Given the description of an element on the screen output the (x, y) to click on. 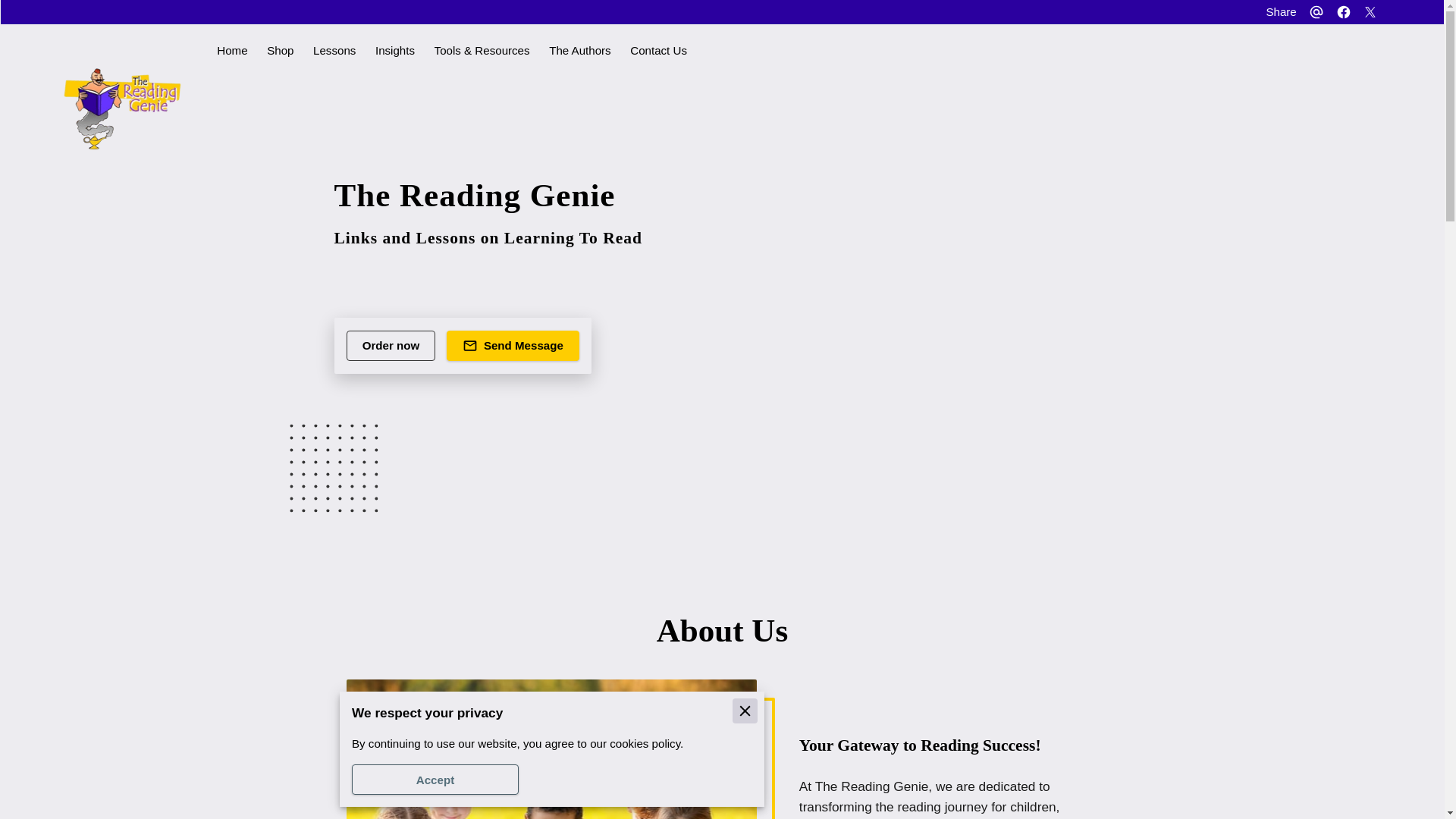
Lessons (334, 50)
Home (231, 50)
Contact Us (658, 50)
Send Message (512, 345)
Shop (280, 50)
Insights (394, 50)
The Authors (579, 50)
Order now (390, 345)
Accept (435, 779)
